Given the description of an element on the screen output the (x, y) to click on. 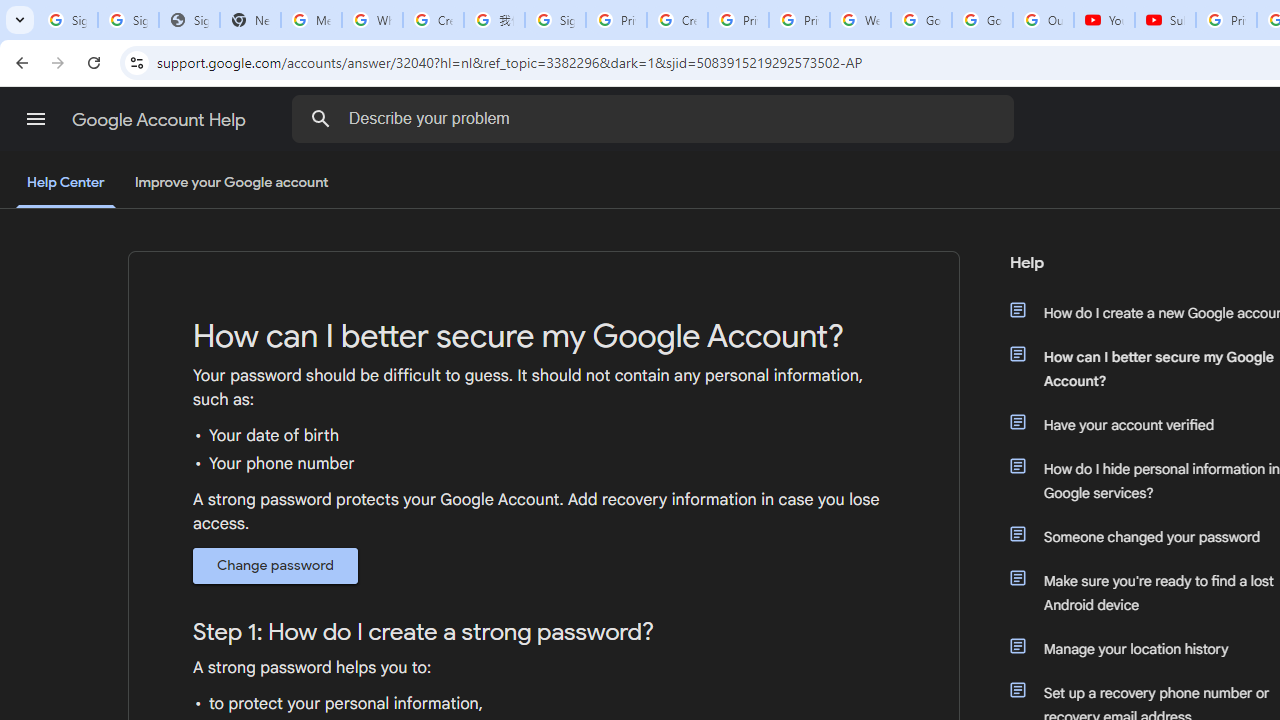
Change password (275, 565)
Sign in - Google Accounts (67, 20)
Search the Help Center (320, 118)
Help Center (65, 183)
